Given the description of an element on the screen output the (x, y) to click on. 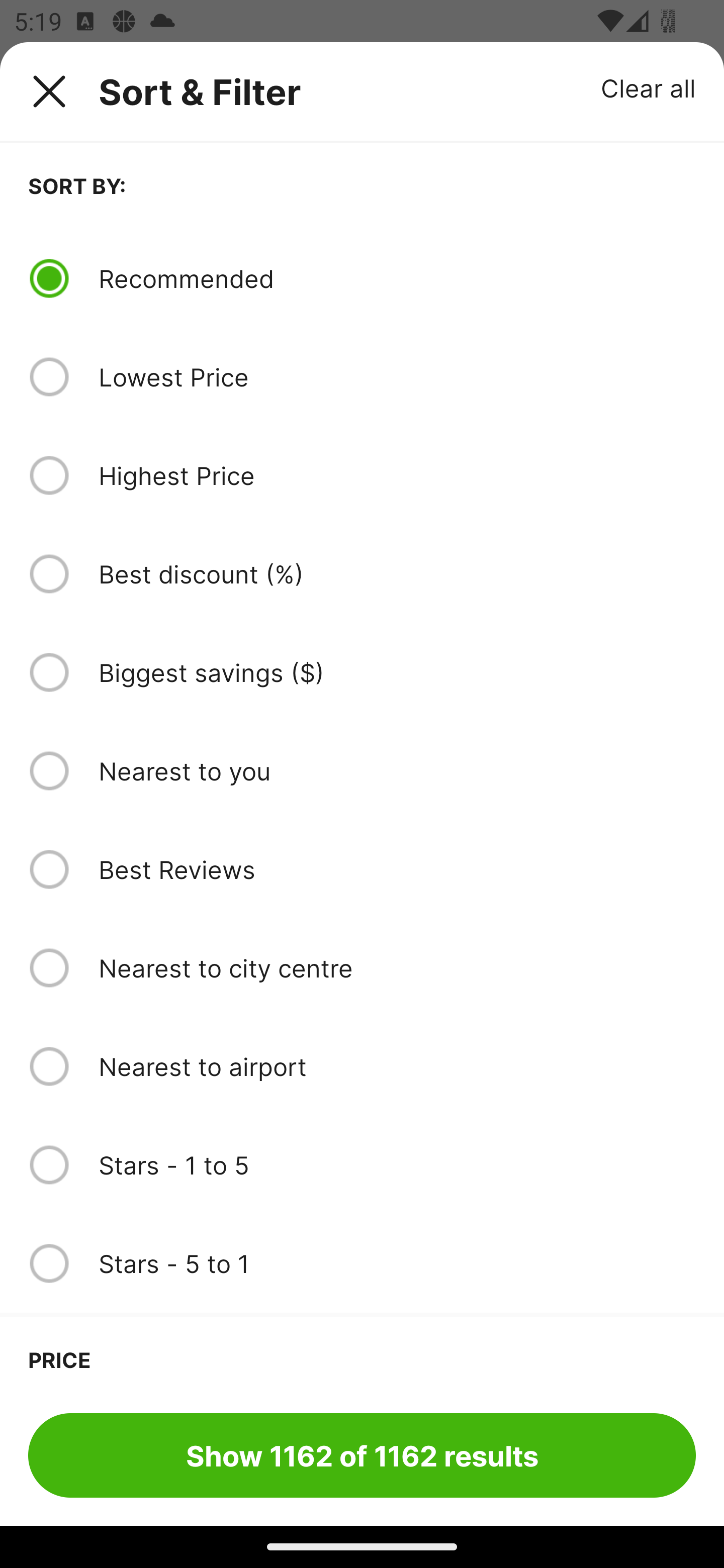
Clear all (648, 87)
Recommended  (396, 278)
Lowest Price (396, 377)
Highest Price (396, 474)
Best discount (%) (396, 573)
Biggest savings ($) (396, 672)
Nearest to you (396, 770)
Best Reviews (396, 869)
Nearest to city centre (396, 968)
Nearest to airport (396, 1065)
